Given the description of an element on the screen output the (x, y) to click on. 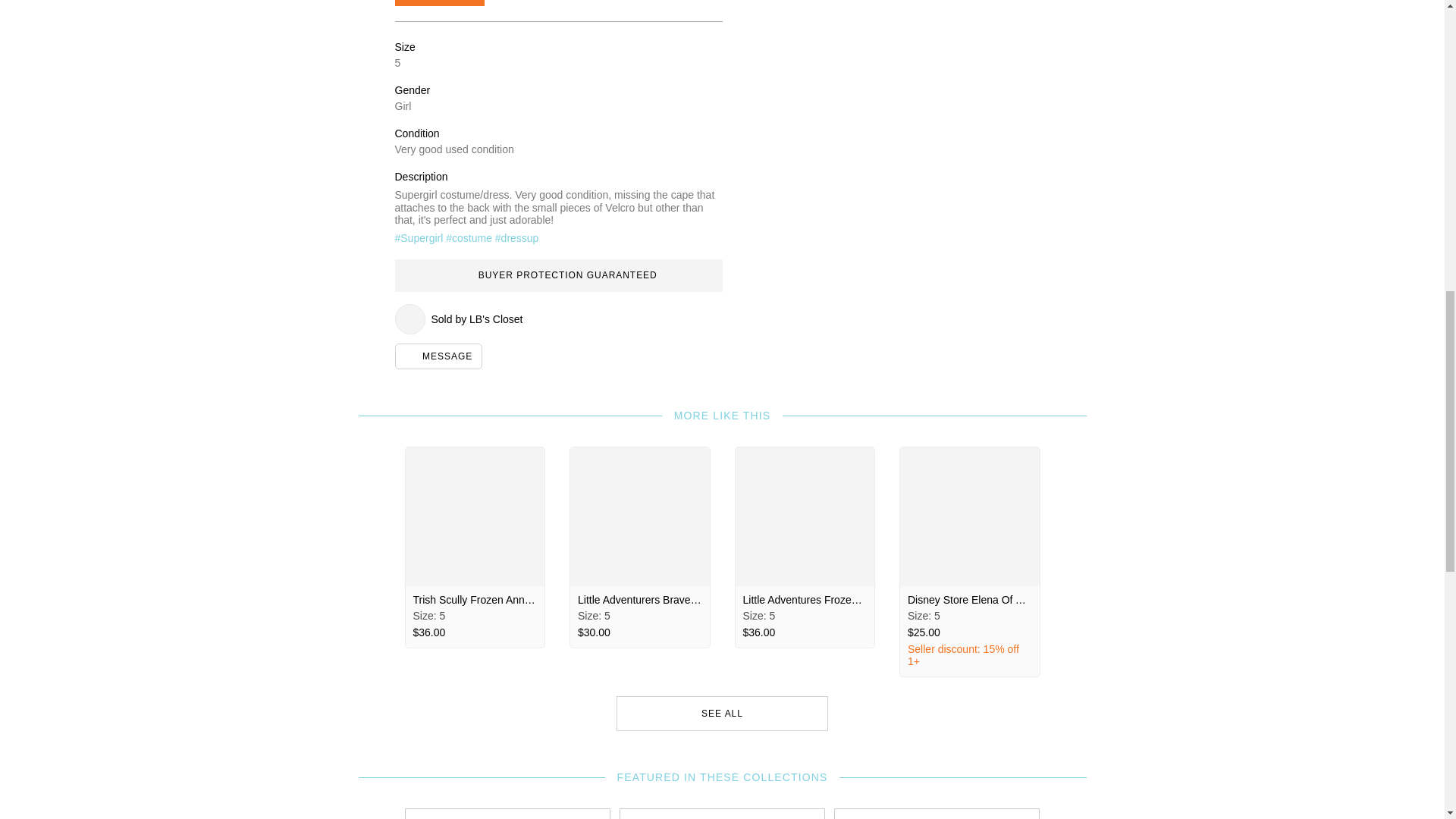
MESSAGE (437, 356)
BUYER PROTECTION GUARANTEED (558, 275)
Sold by LB's Closet (558, 318)
